Given the description of an element on the screen output the (x, y) to click on. 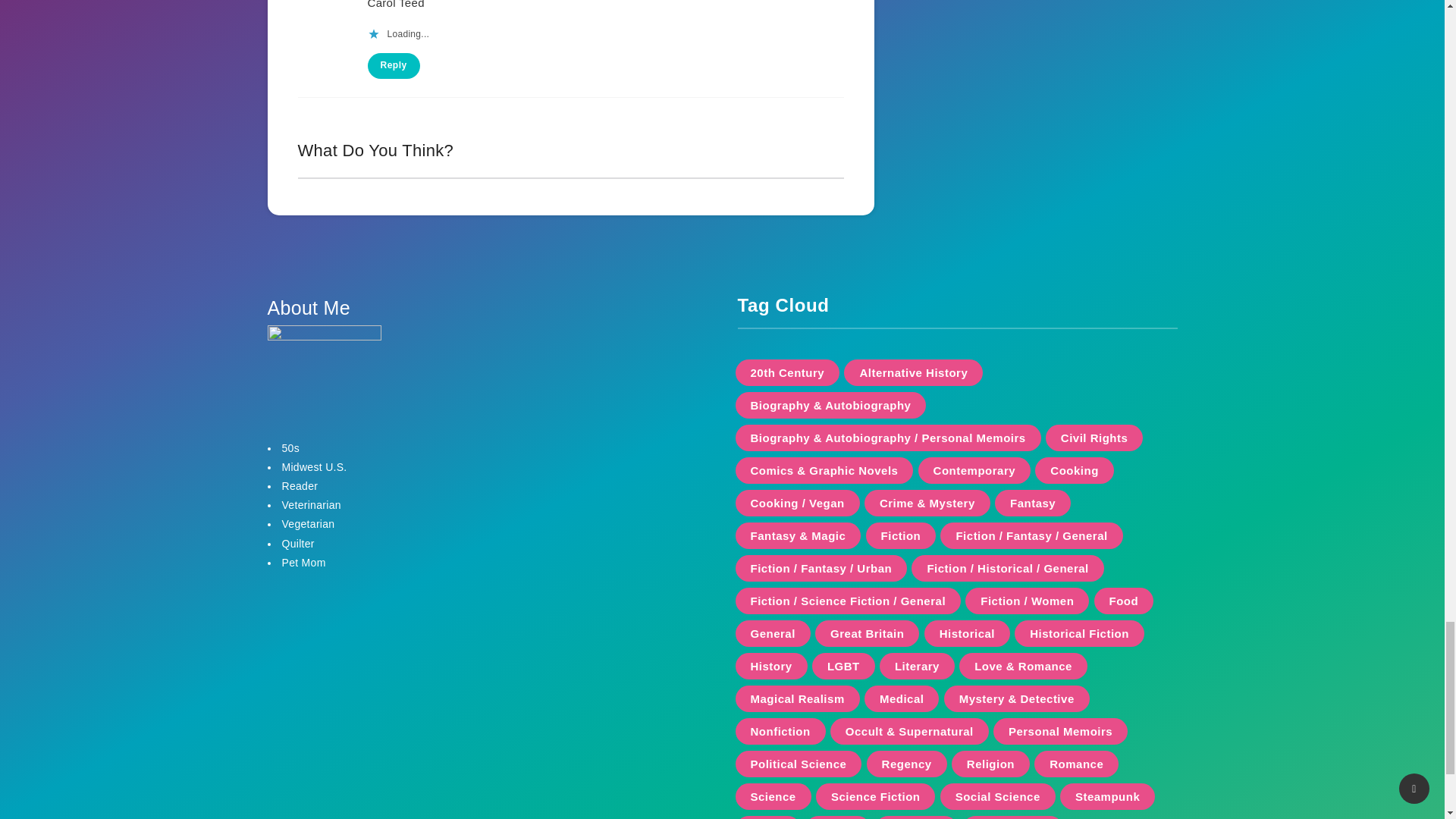
20th Century (787, 372)
Alternative History (913, 372)
Reply (392, 65)
